Given the description of an element on the screen output the (x, y) to click on. 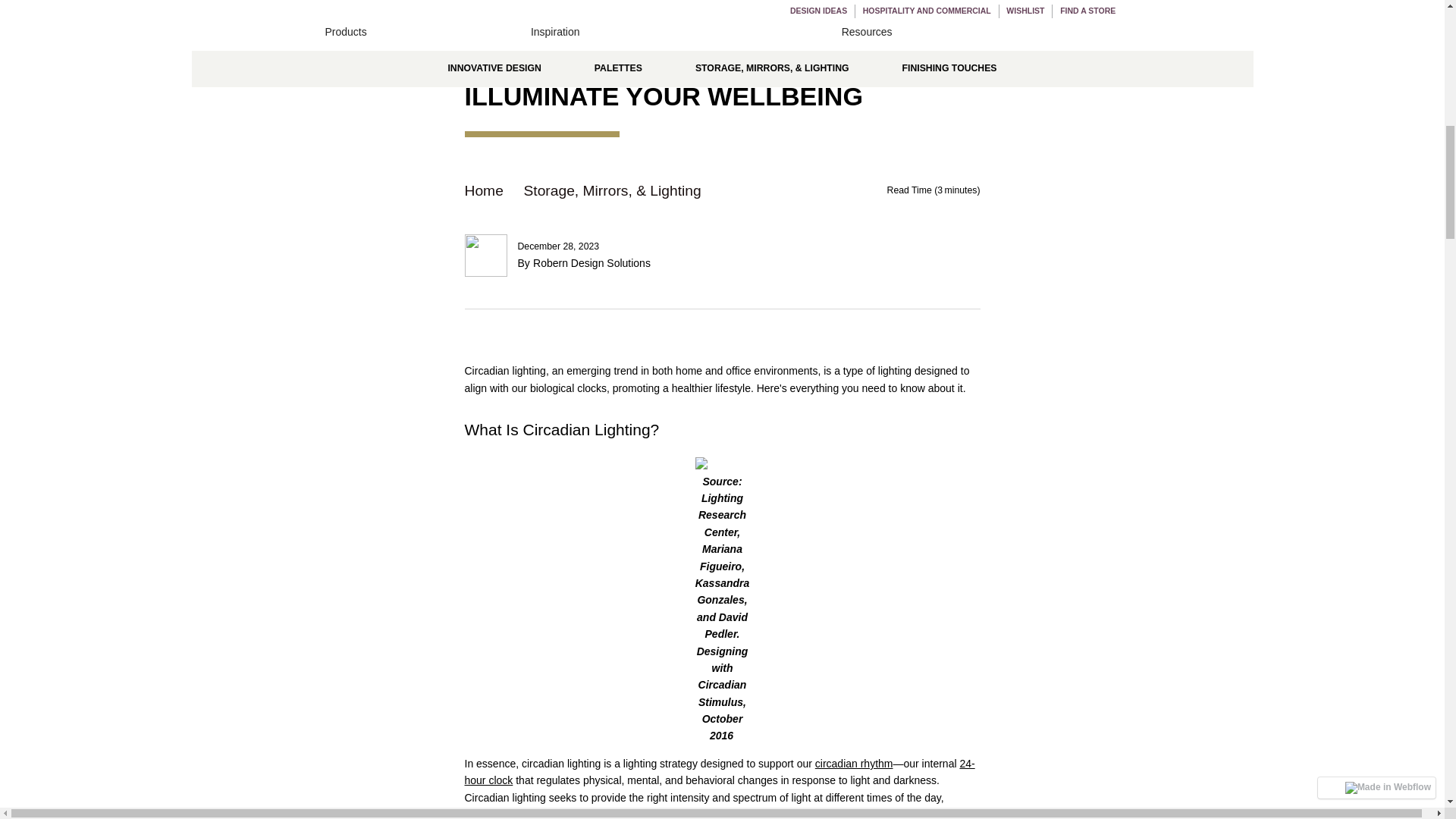
circadian rhythm (854, 763)
Home (489, 191)
24-hour clock (719, 771)
